Given the description of an element on the screen output the (x, y) to click on. 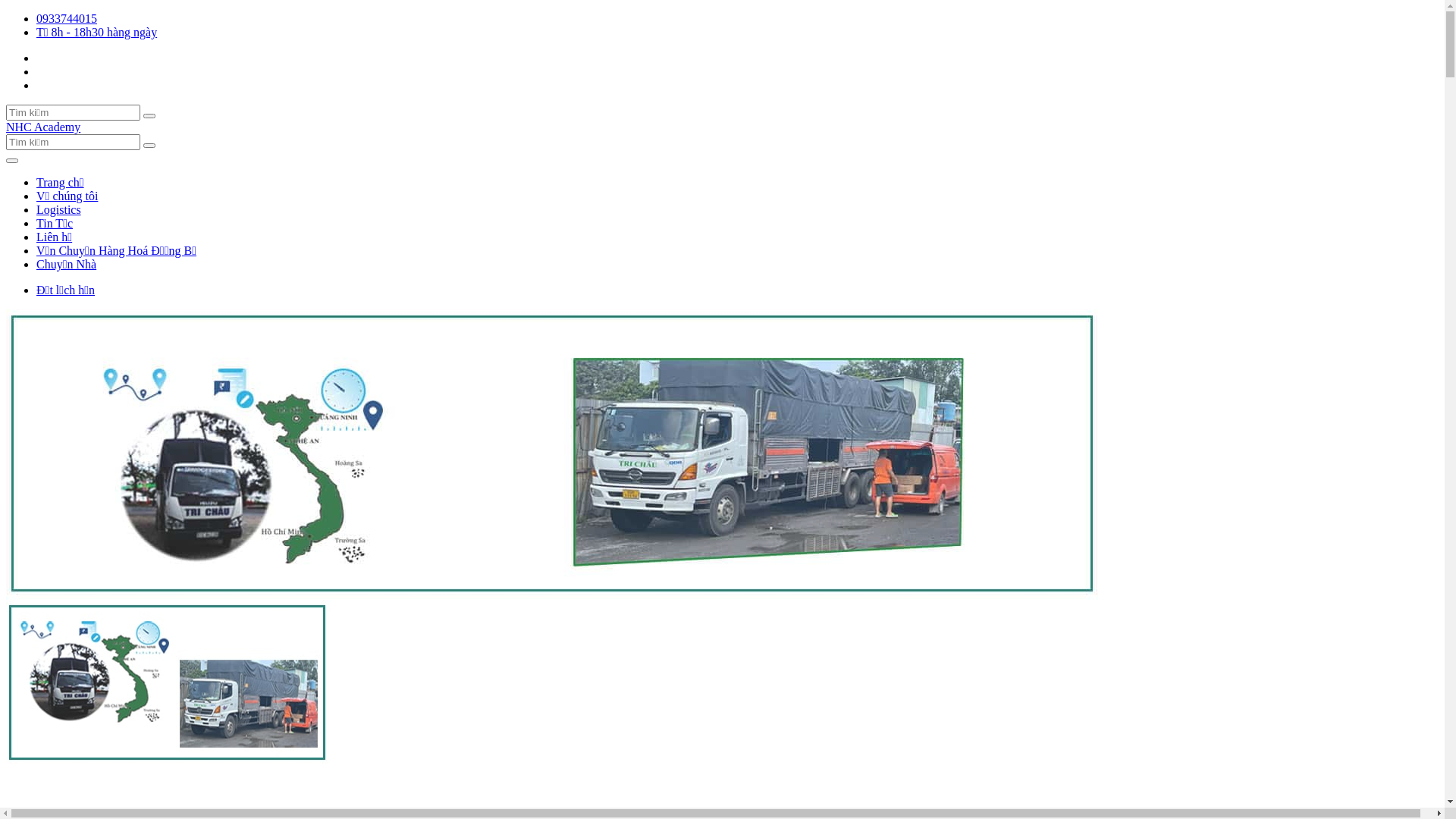
Logistics Element type: text (58, 209)
0933744015 Element type: text (66, 18)
NHC Academy Element type: text (43, 126)
